Given the description of an element on the screen output the (x, y) to click on. 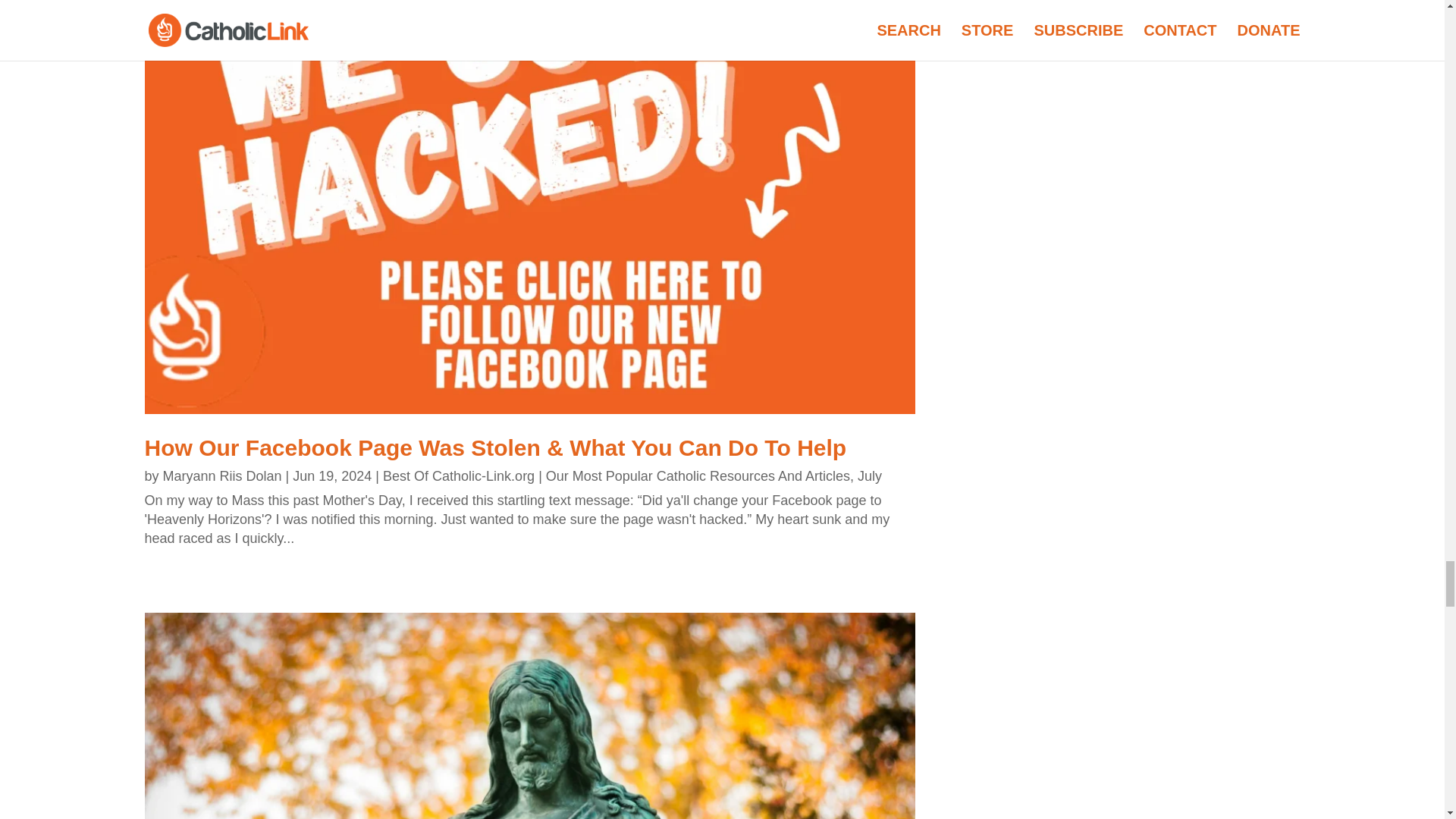
Posts by Maryann Riis Dolan (222, 476)
